Given the description of an element on the screen output the (x, y) to click on. 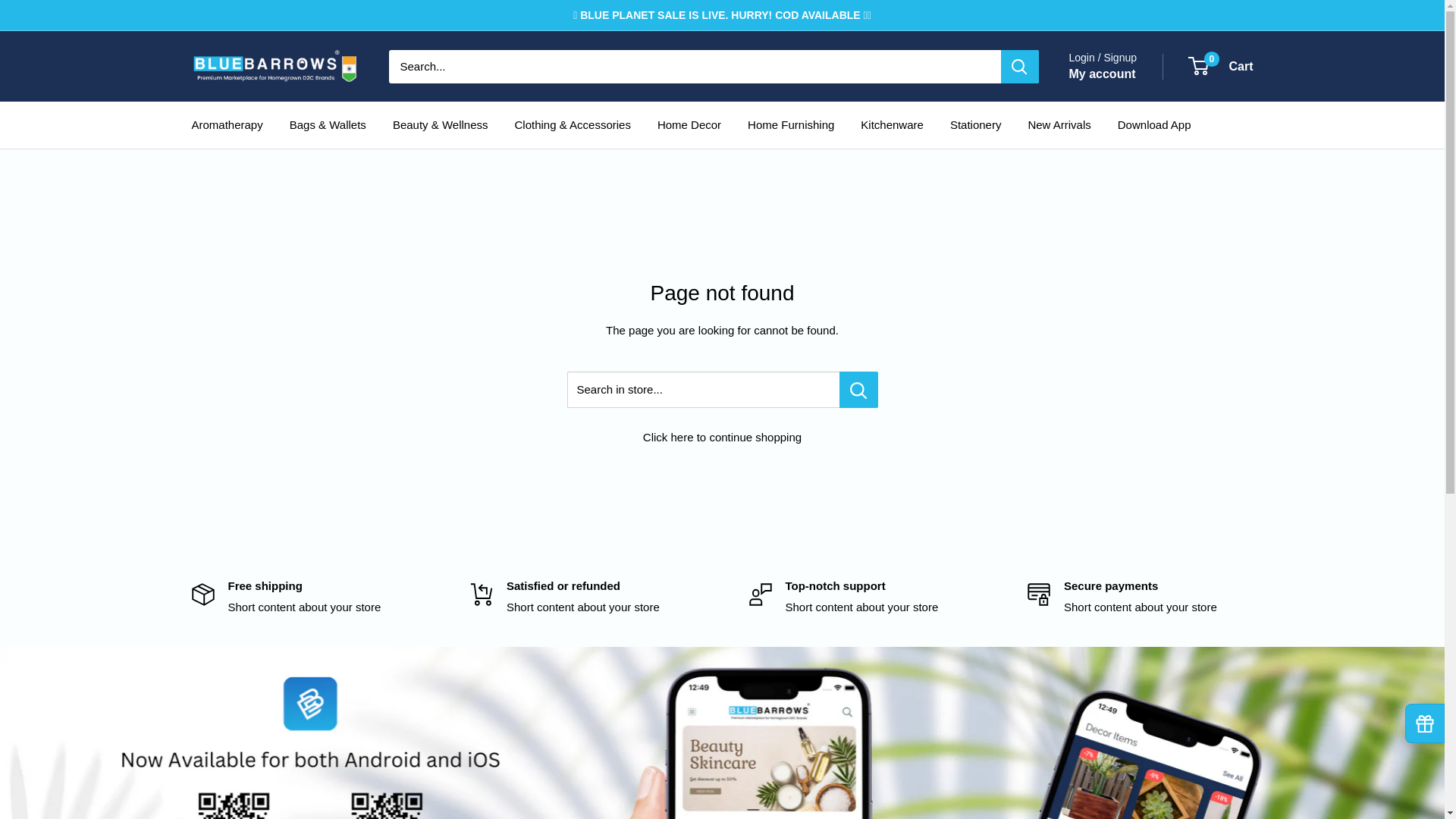
Aromatherapy (1220, 66)
Kitchenware (226, 124)
New Arrivals (891, 124)
Home Decor (1058, 124)
BB India Marketplace (689, 124)
Stationery (274, 65)
Home Furnishing (975, 124)
My account (791, 124)
Download App (1101, 74)
Click here to continue shopping (1154, 124)
